Given the description of an element on the screen output the (x, y) to click on. 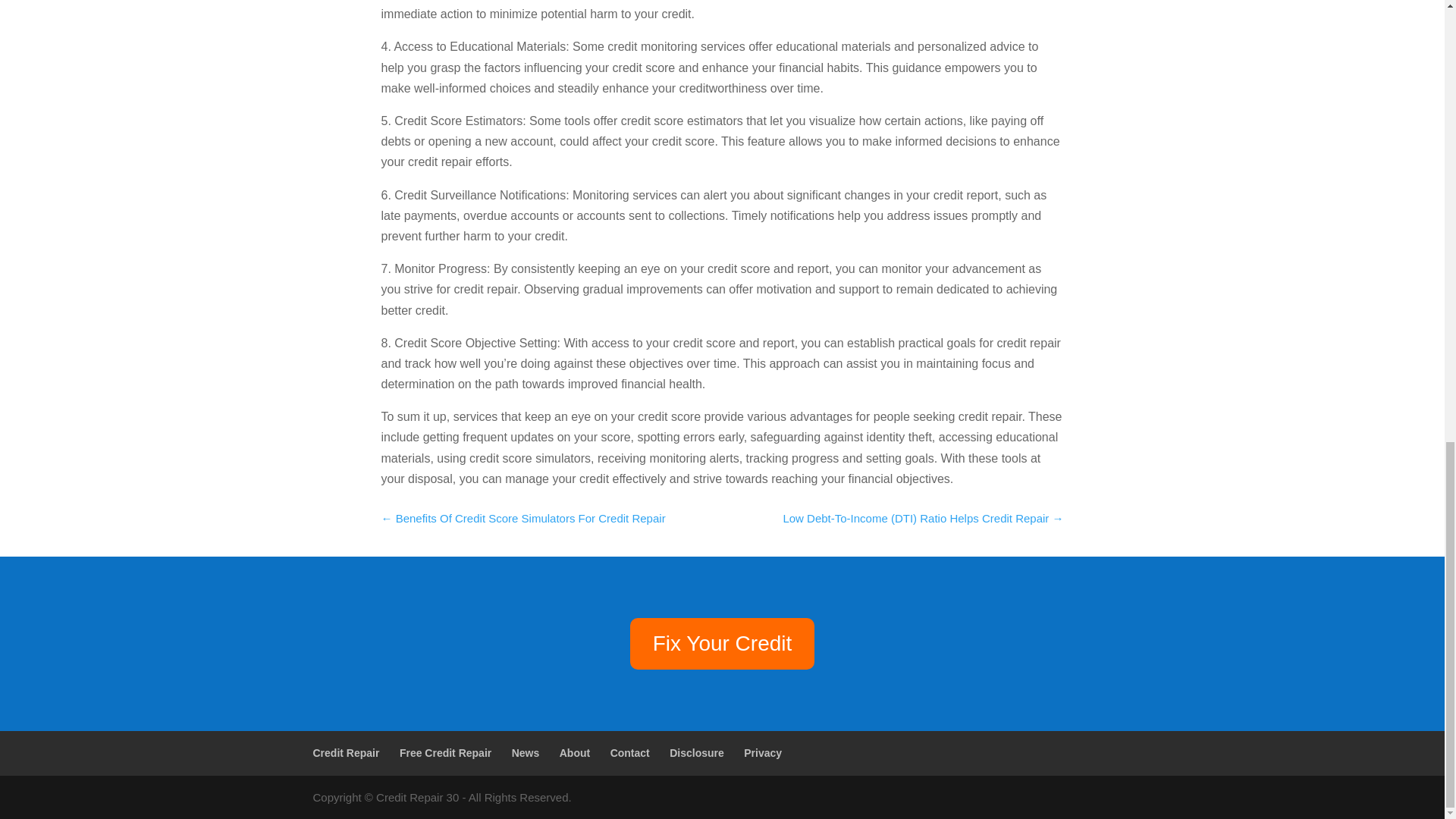
Privacy (762, 752)
Credit Repair (345, 752)
Fix Your Credit (722, 643)
News (526, 752)
About (574, 752)
Free Credit Repair (445, 752)
Contact (629, 752)
Disclosure (696, 752)
